Given the description of an element on the screen output the (x, y) to click on. 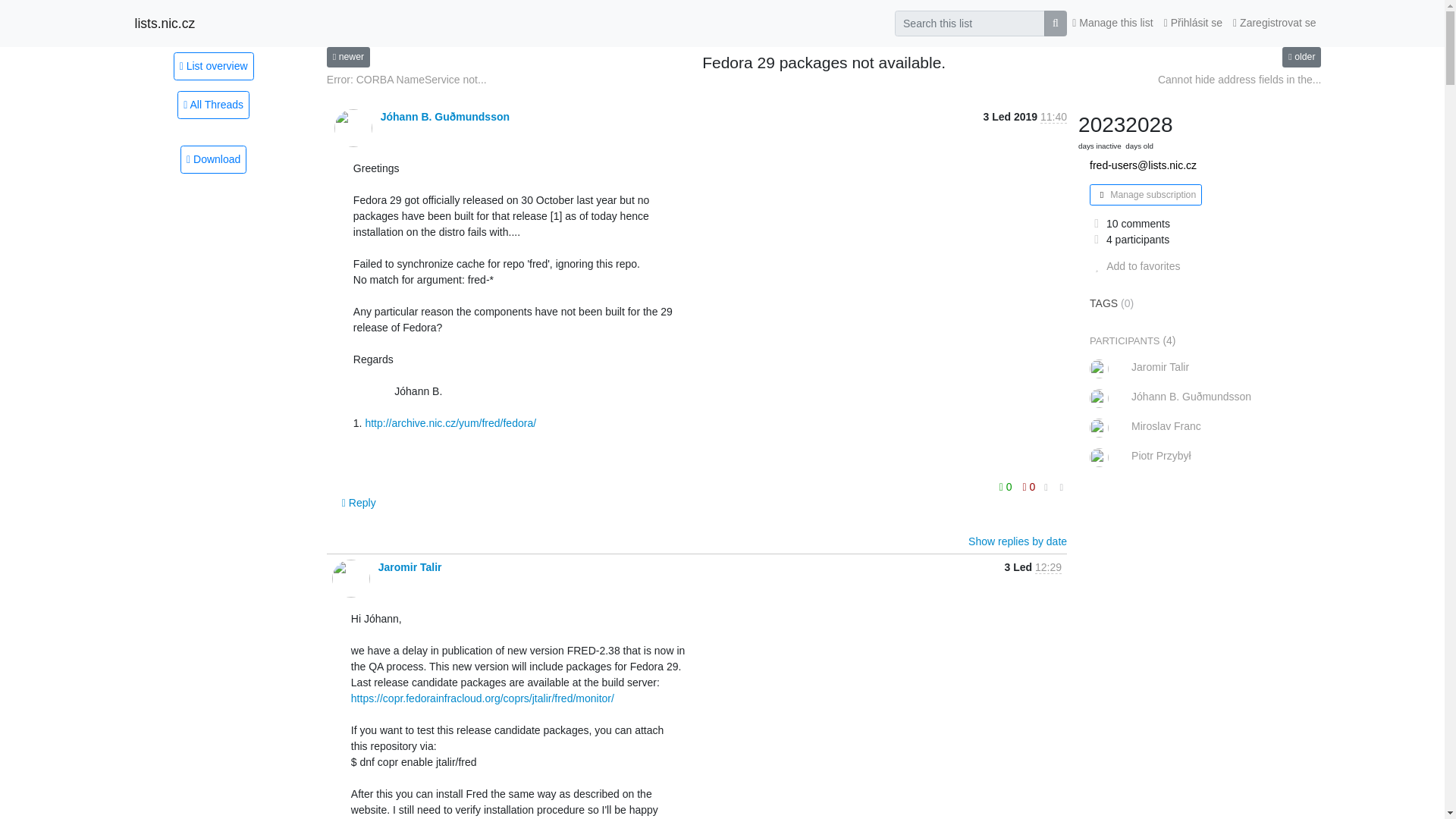
Error: CORBA NameService not running (406, 79)
Zaregistrovat se (1273, 22)
Display in fixed font (1046, 487)
Cannot hide address fields in the contact create command (1239, 79)
Error: CORBA NameService not running (347, 56)
Error: CORBA NameService not... (406, 79)
See the profile for Jaromir Talir (410, 567)
You must be logged-in to vote. (1029, 486)
Sign in to reply online (359, 502)
This thread in gzipped mbox format (213, 159)
lists.nic.cz (165, 22)
All Threads (212, 104)
Cannot hide address fields in the... (1239, 79)
List overview (213, 65)
older (1301, 56)
